Given the description of an element on the screen output the (x, y) to click on. 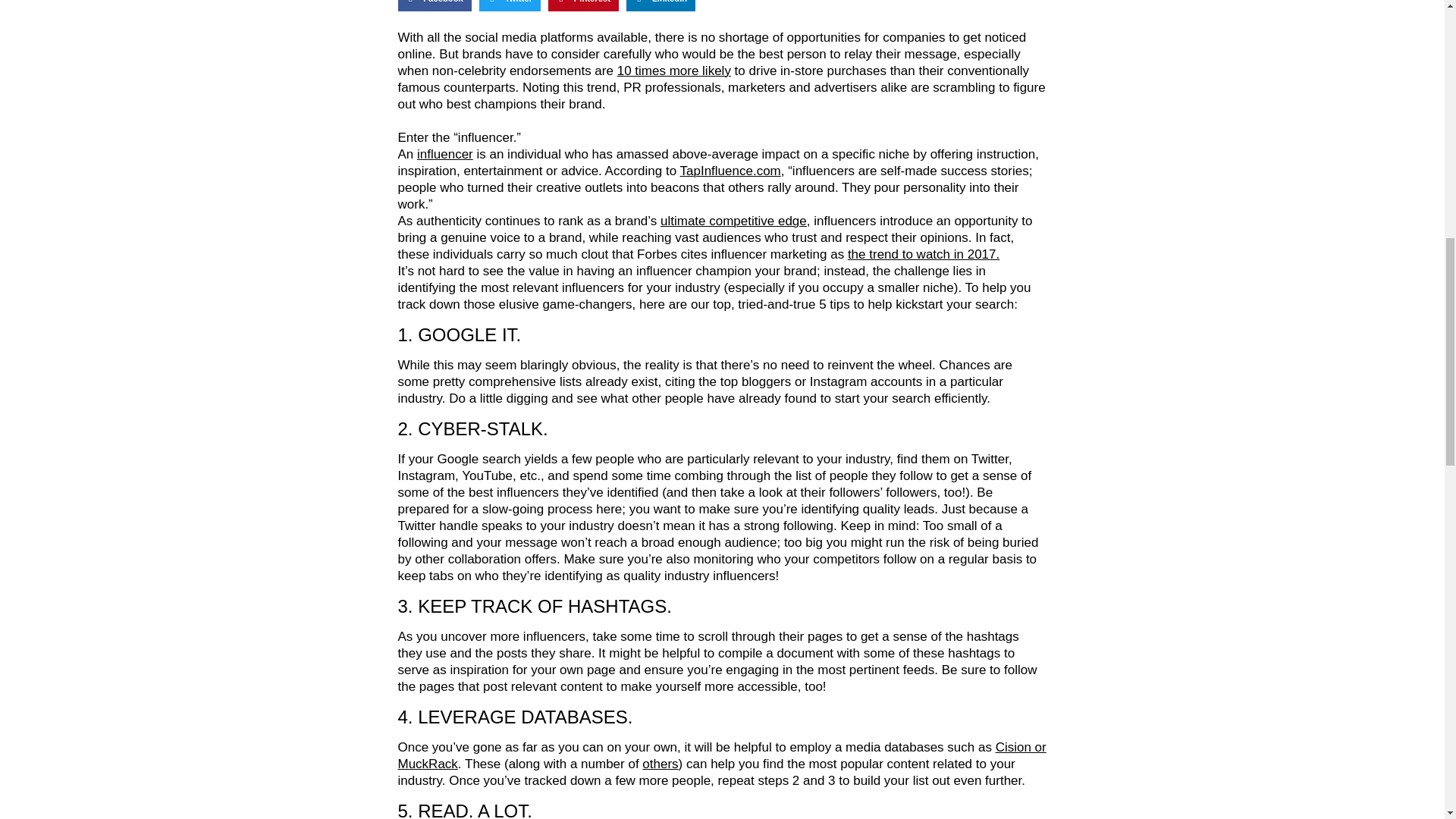
TapInfluence.com (729, 170)
the trend to watch in 2017. (922, 254)
10 times more likely (673, 70)
others (660, 763)
influencer (444, 154)
Cision or MuckRack (721, 755)
ultimate competitive edge (733, 220)
